Given the description of an element on the screen output the (x, y) to click on. 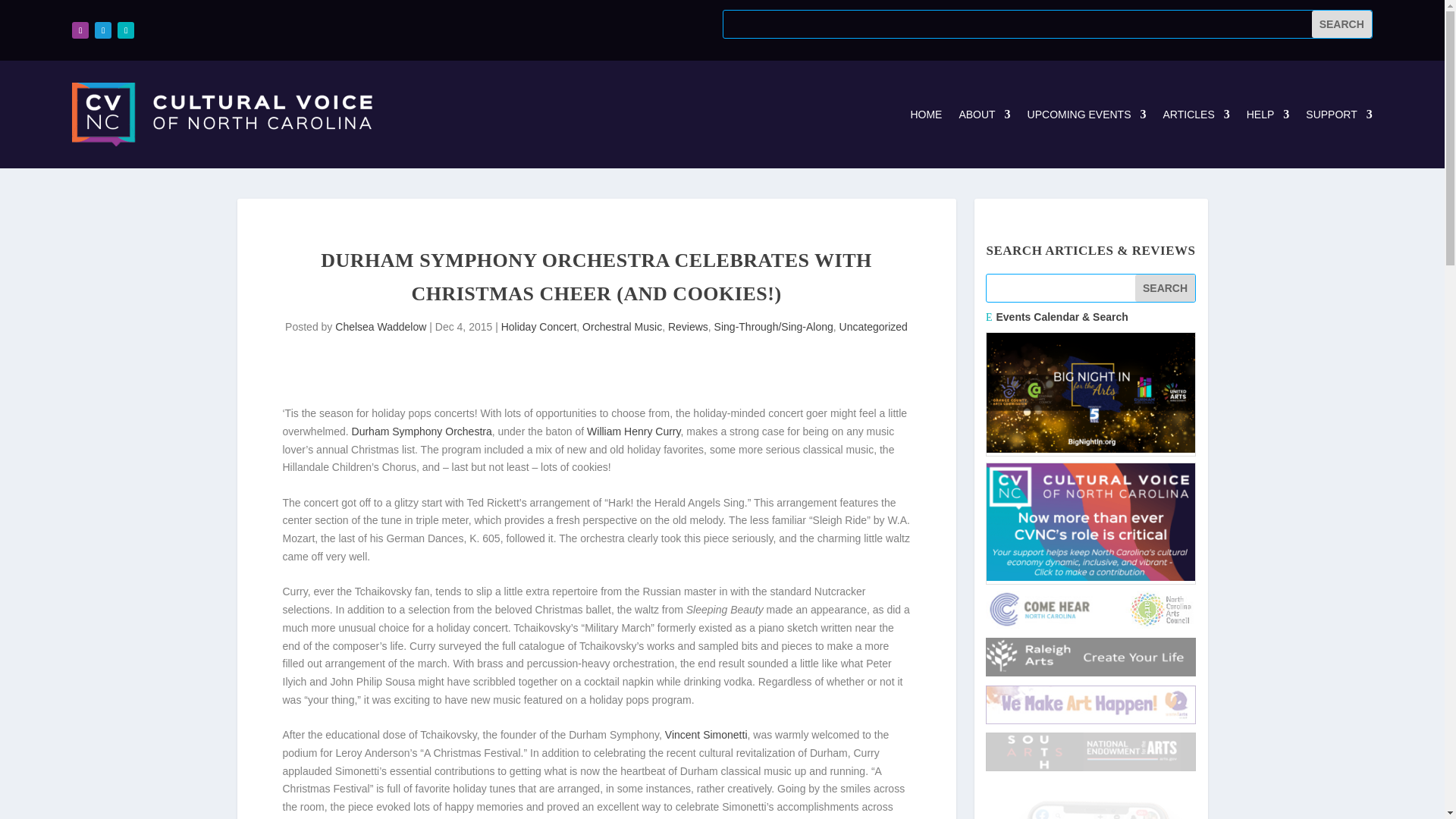
UPCOMING EVENTS (1087, 114)
Follow on Facebook (79, 30)
Follow on LinkedIn (125, 30)
Search (1341, 23)
Posts by Chelsea Waddelow (380, 326)
ARTICLES (1196, 114)
Search (1165, 288)
SUPPORT (1338, 114)
Search (1341, 23)
Search (1165, 288)
Search (1341, 23)
Follow on X (103, 30)
HOME (926, 114)
ABOUT (984, 114)
HELP (1268, 114)
